Given the description of an element on the screen output the (x, y) to click on. 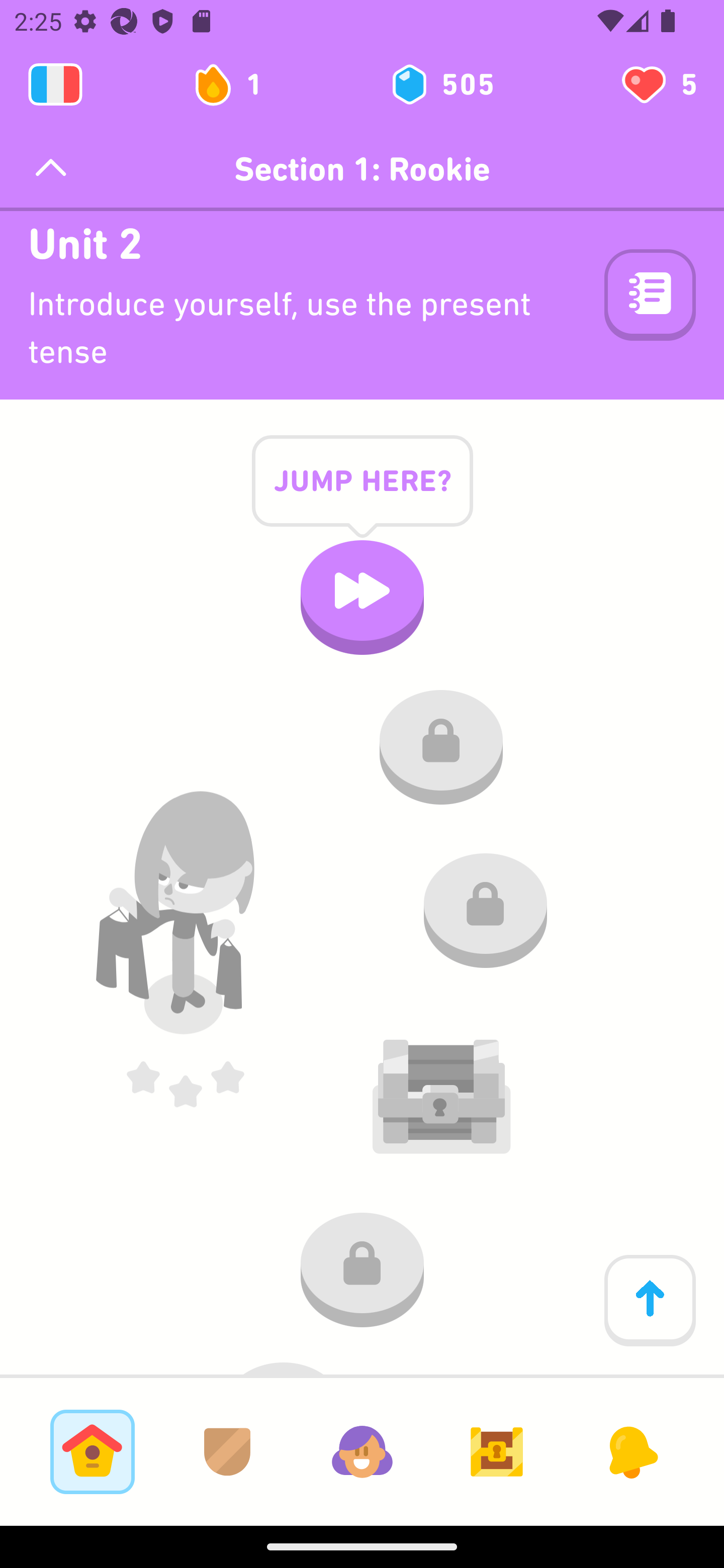
Learning 2131888976 (55, 84)
1 day streak 1 (236, 84)
505 (441, 84)
You have 5 hearts left 5 (657, 84)
Section 1: Rookie (362, 169)
JUMP HERE? (361, 495)
Learn Tab (91, 1451)
Leagues Tab (227, 1451)
Profile Tab (361, 1451)
Goals Tab (496, 1451)
News Tab (631, 1451)
